Given the description of an element on the screen output the (x, y) to click on. 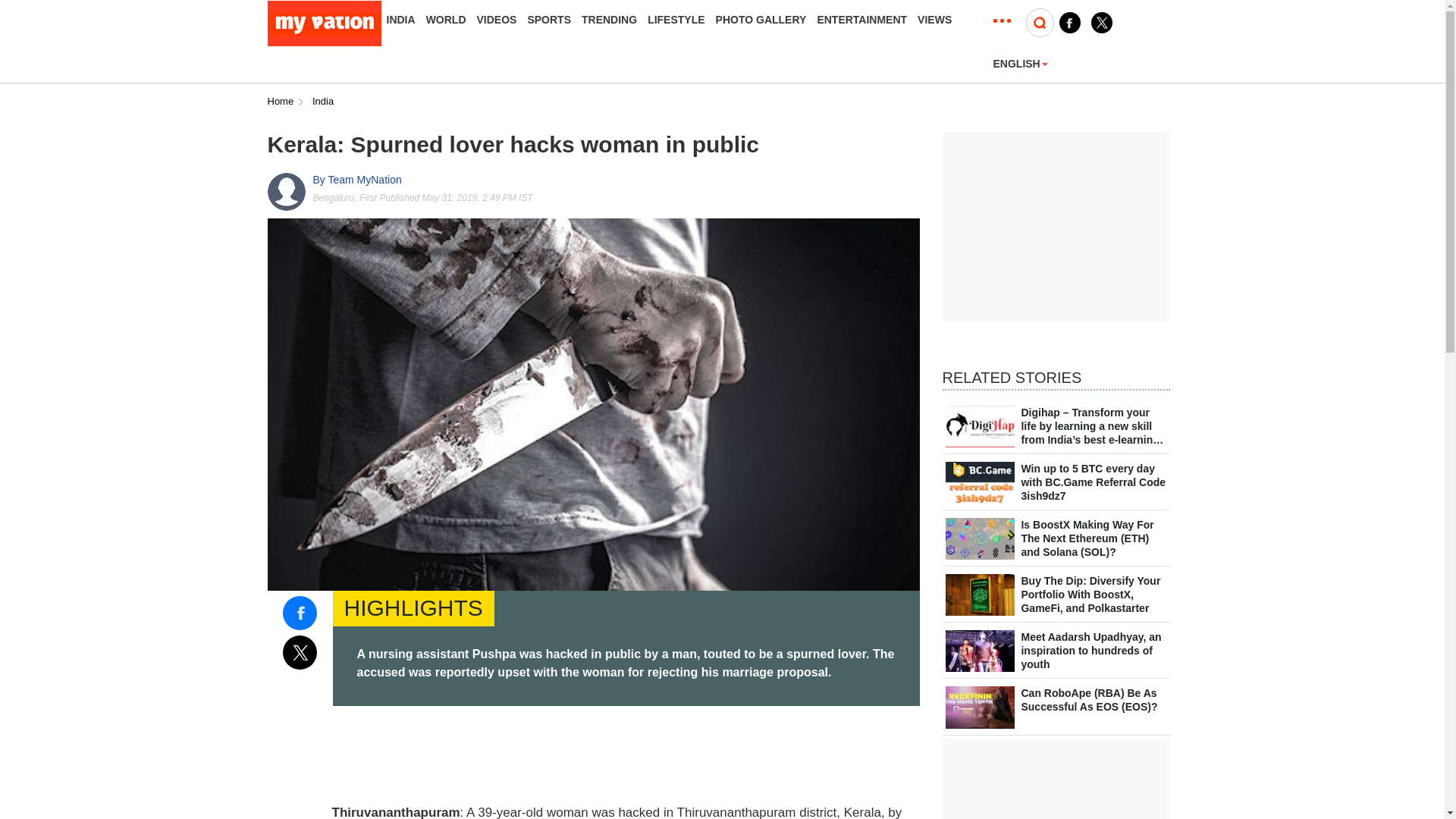
PHOTO GALLERY (761, 19)
Home (280, 101)
TRENDING (609, 19)
Sports (548, 19)
By Team MyNation (357, 180)
VIDEOS (497, 19)
ENTERTAINMENT (861, 19)
Entertainment (861, 19)
ENGLISH (1020, 63)
LIFESTYLE (676, 19)
India (400, 19)
Trending (609, 19)
World (446, 19)
VIEWS (934, 19)
INDIA (400, 19)
